Given the description of an element on the screen output the (x, y) to click on. 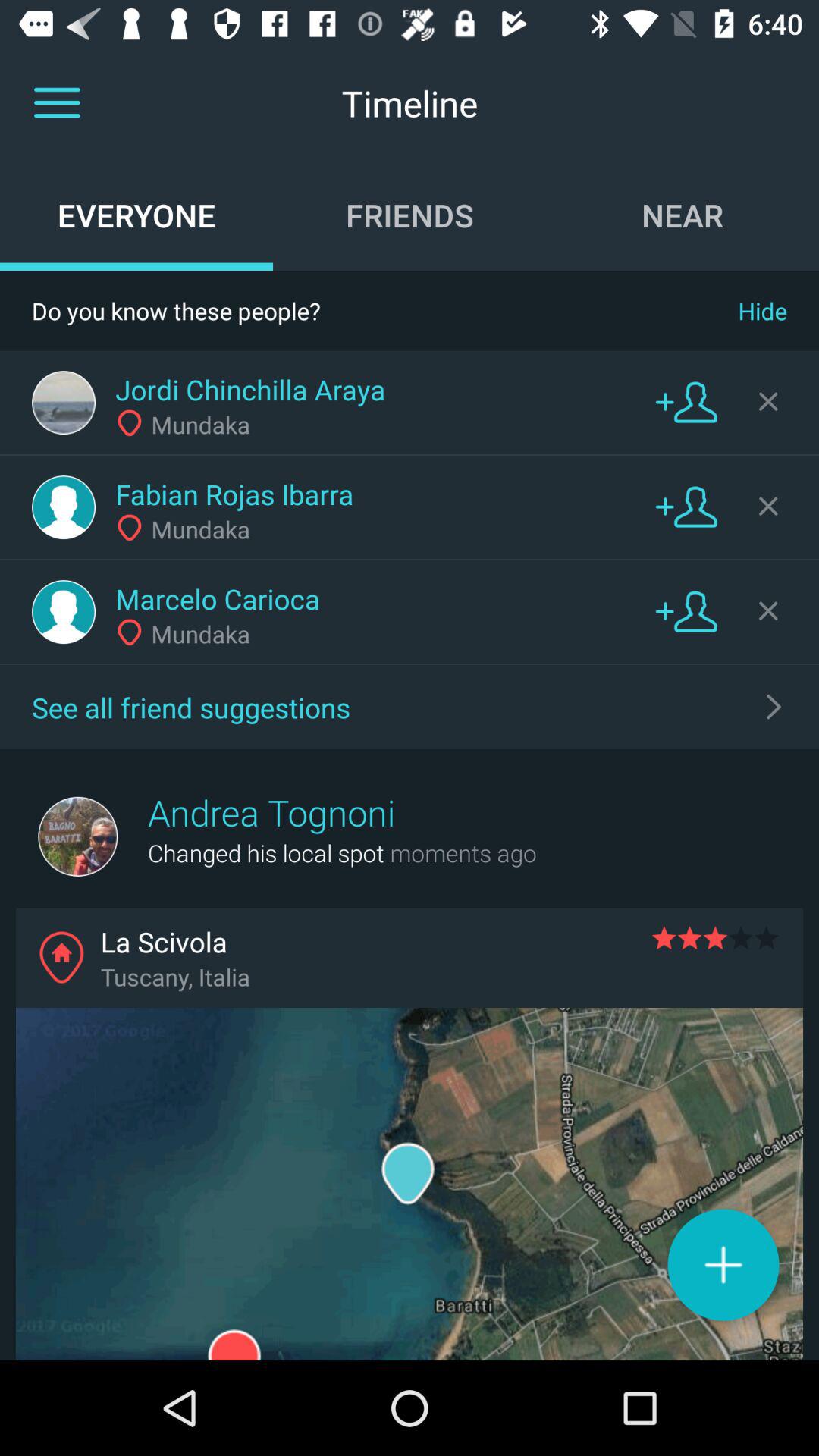
click the icon below the timeline (682, 214)
